Given the description of an element on the screen output the (x, y) to click on. 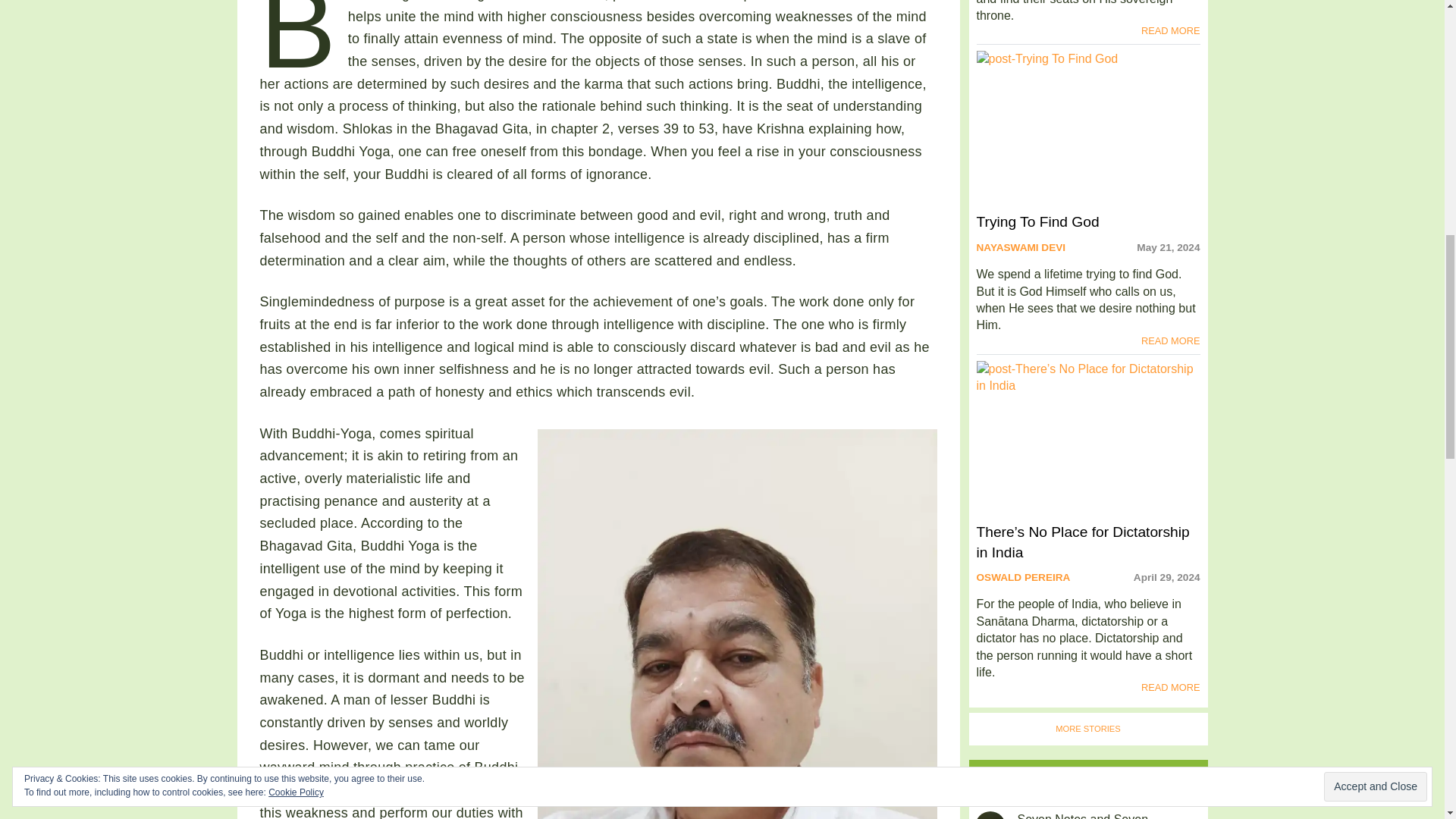
Seven Notes and Seven Chakras (1100, 816)
READ MORE (1170, 341)
NAYASWAMI DEVI (1020, 247)
View all articles in Talking Tree (1088, 728)
Read Trying To Find God (1087, 141)
Seven Notes and Seven Chakras (990, 815)
READ MORE (1170, 30)
Trying To Find God (1087, 141)
